Given the description of an element on the screen output the (x, y) to click on. 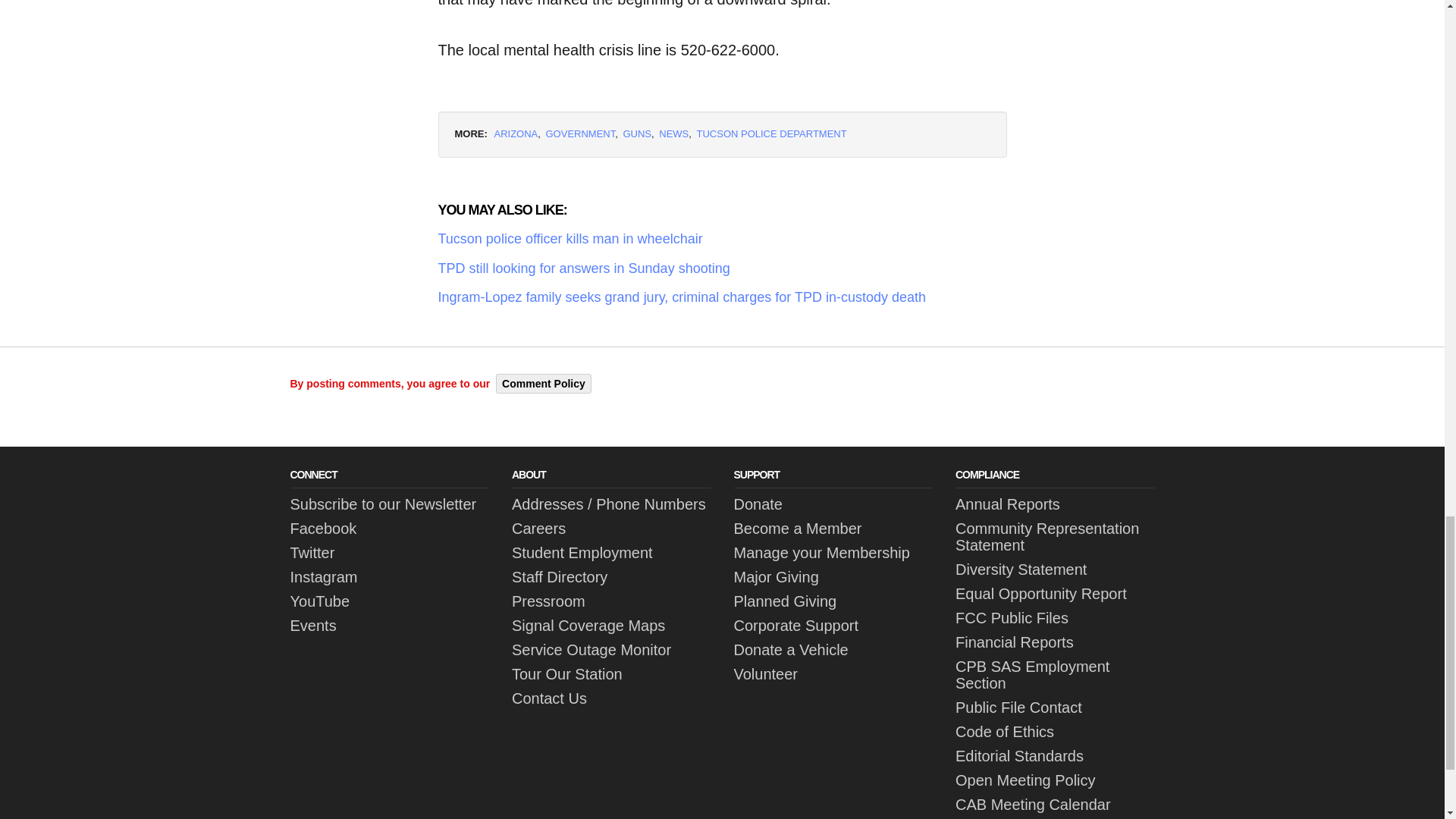
Tucson police officer kills man in wheelchair (722, 239)
TPD still looking for answers in Sunday shooting (722, 268)
